Given the description of an element on the screen output the (x, y) to click on. 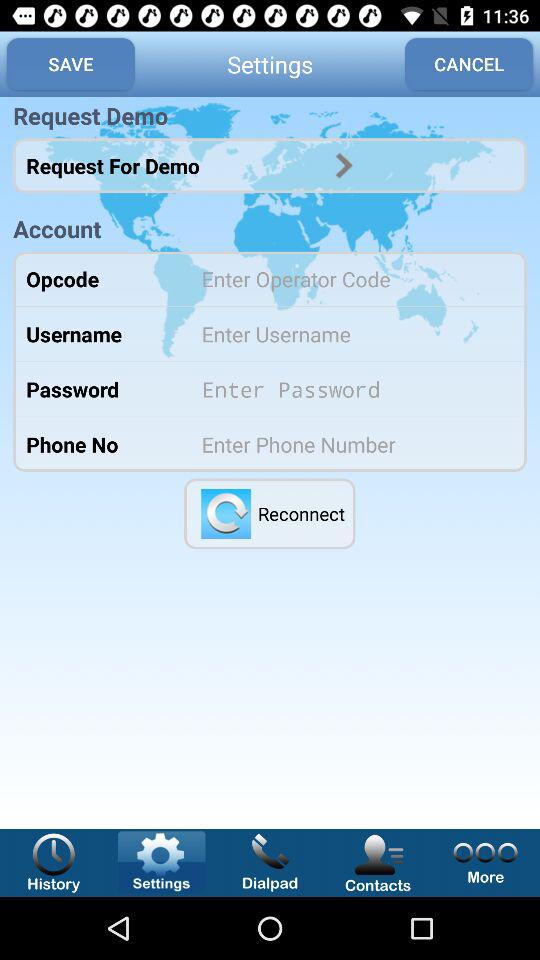
press icon next to reconnect app (226, 513)
